Given the description of an element on the screen output the (x, y) to click on. 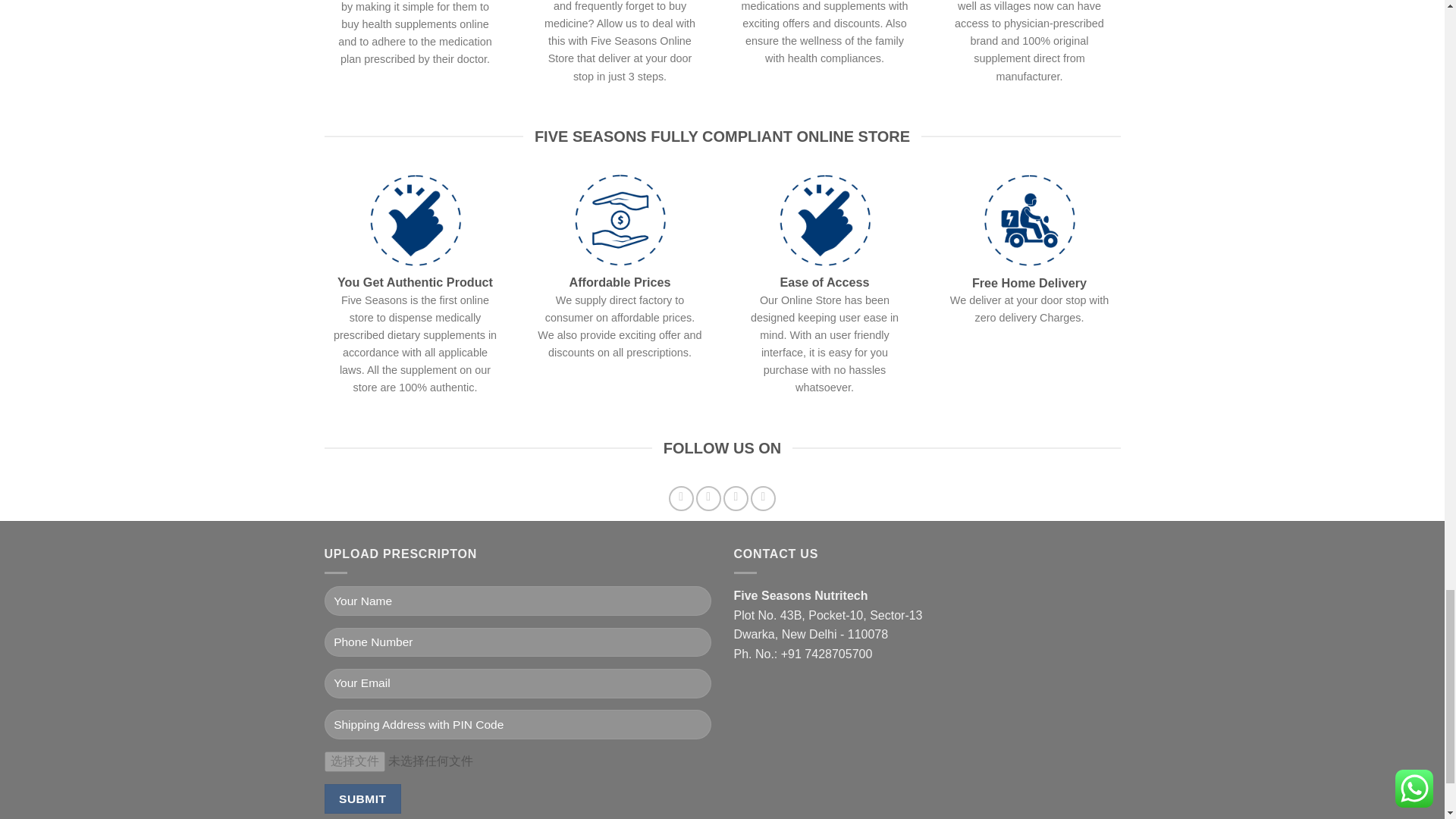
Follow on Instagram (707, 498)
Follow on Facebook (681, 498)
Follow on Twitter (735, 498)
Submit (362, 798)
Submit (362, 798)
Send us an email (763, 498)
